Given the description of an element on the screen output the (x, y) to click on. 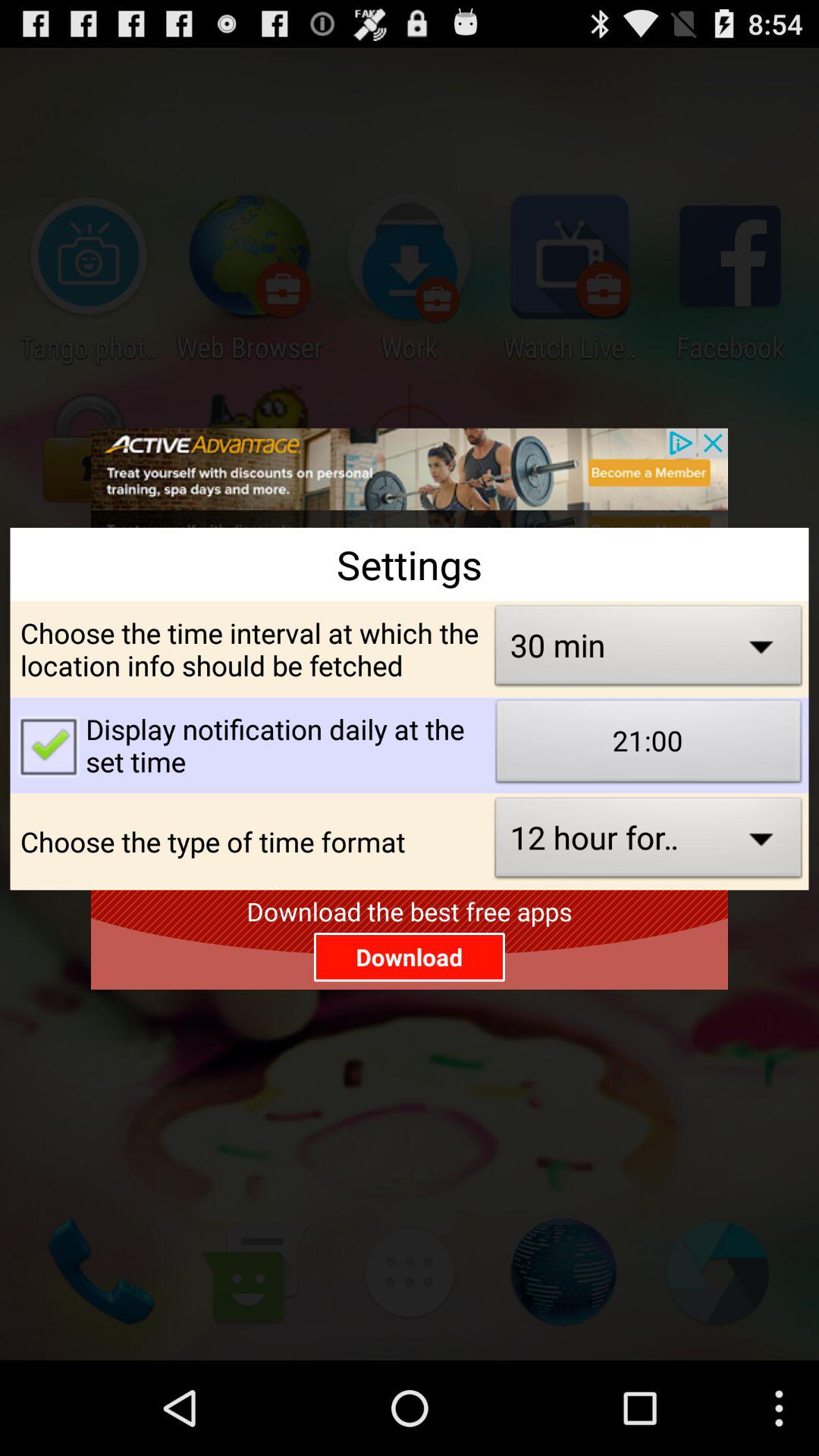
advertisement (409, 477)
